Given the description of an element on the screen output the (x, y) to click on. 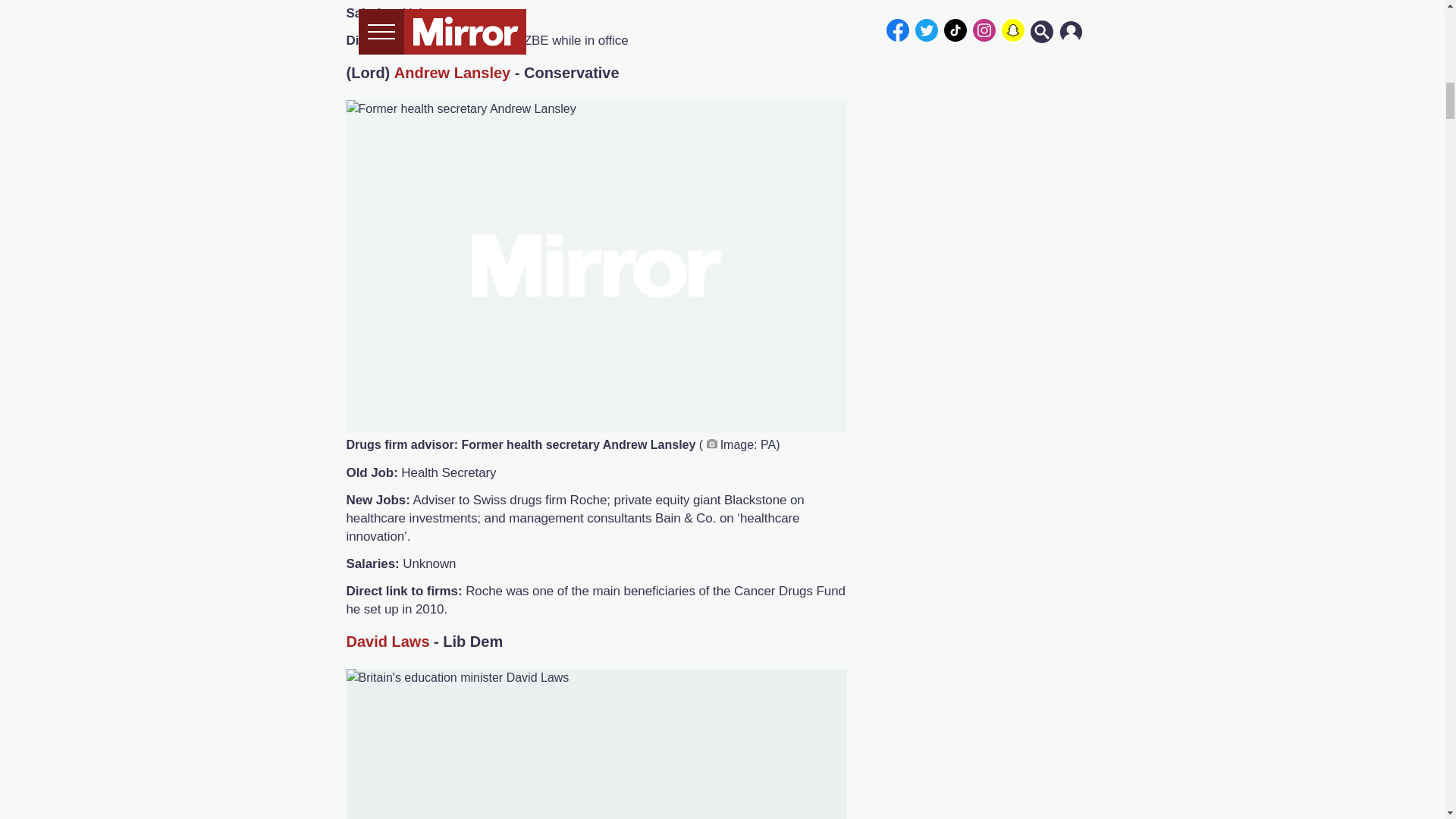
David Laws (387, 641)
Andrew Lansley (452, 72)
